Given the description of an element on the screen output the (x, y) to click on. 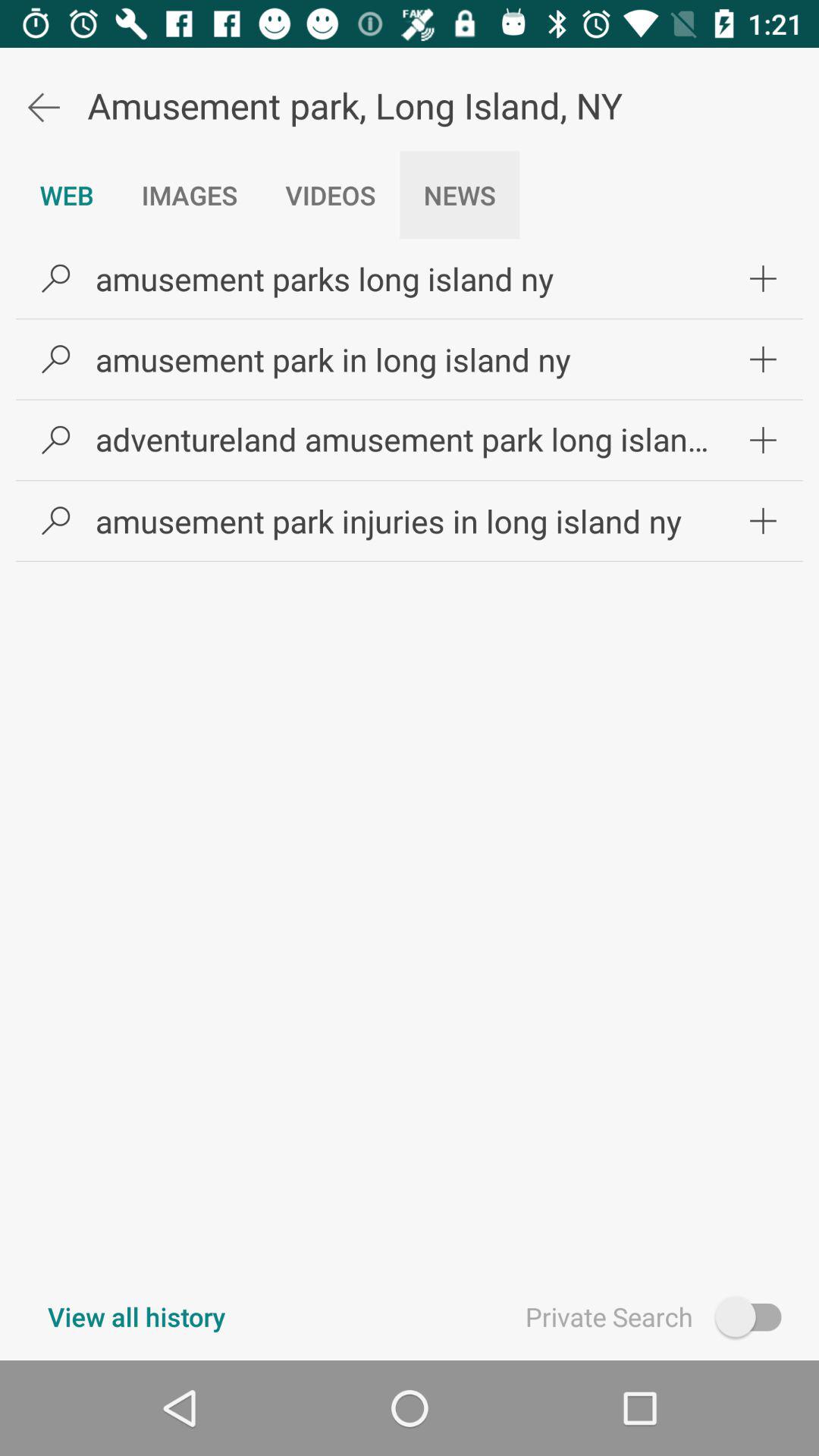
swipe until videos icon (330, 194)
